Given the description of an element on the screen output the (x, y) to click on. 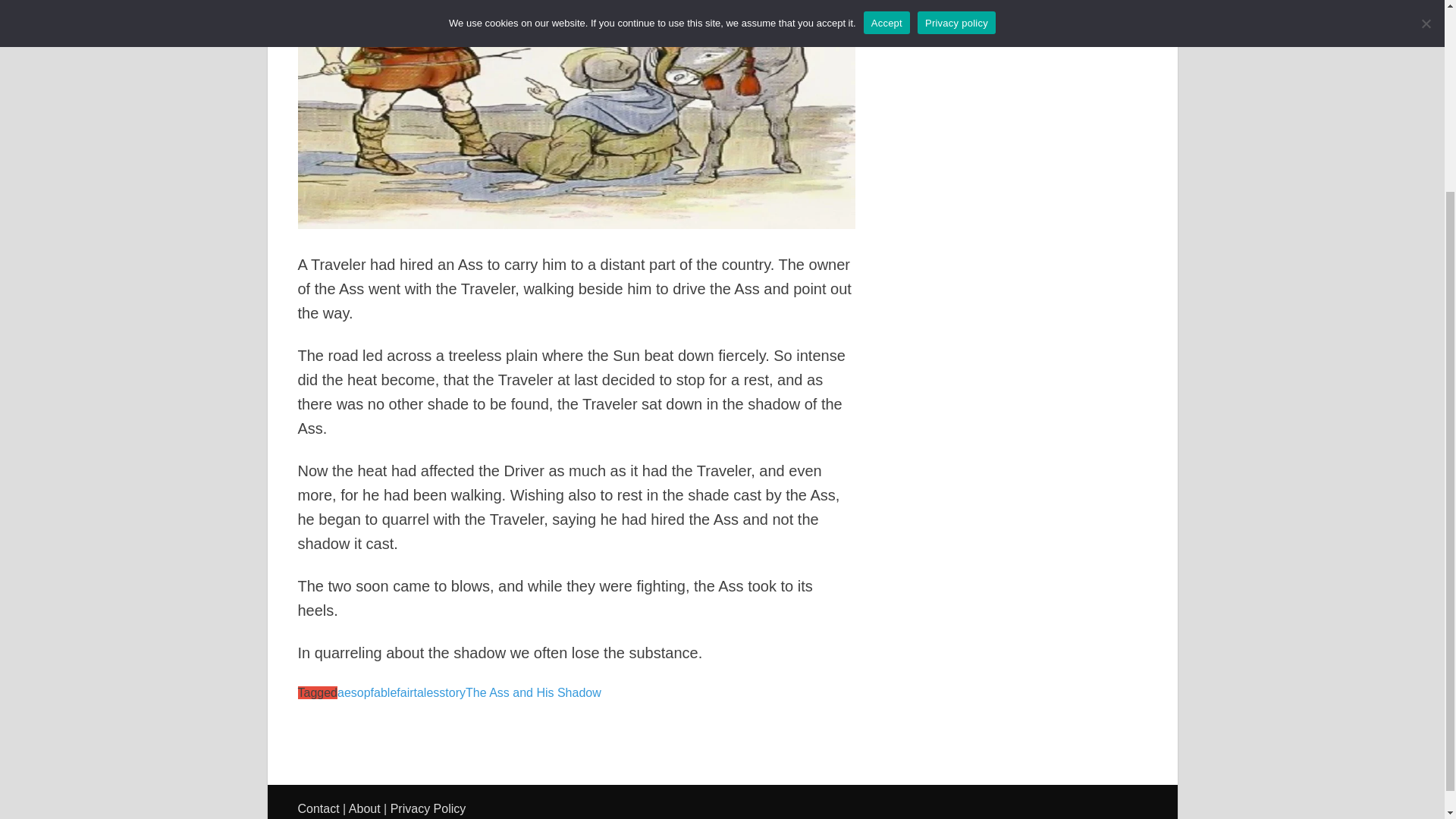
fairtales (417, 692)
fable (384, 692)
The Ass and His Shadow (533, 692)
aesop (354, 692)
Contact (318, 808)
The Ass And His Shadow (575, 114)
About (364, 808)
Privacy Policy (427, 808)
story (452, 692)
